Given the description of an element on the screen output the (x, y) to click on. 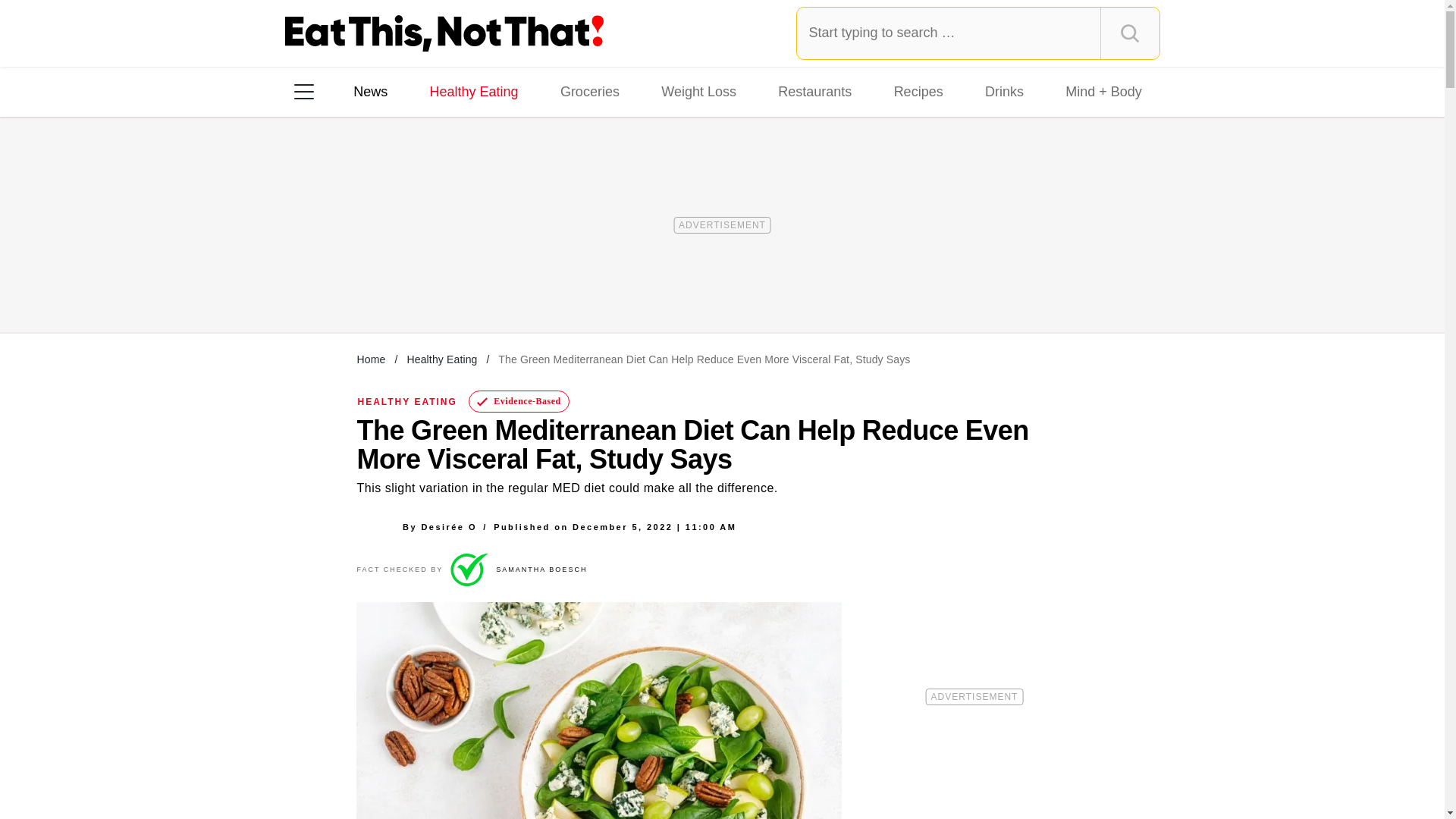
Home (370, 358)
Facebook (314, 287)
Drinks (1003, 91)
TikTok (399, 287)
Eat This Not That Homepage (444, 33)
Pinterest (443, 287)
Weight Loss (698, 91)
Evidence-Based (518, 401)
Facebook (314, 287)
Instagram (357, 287)
